Given the description of an element on the screen output the (x, y) to click on. 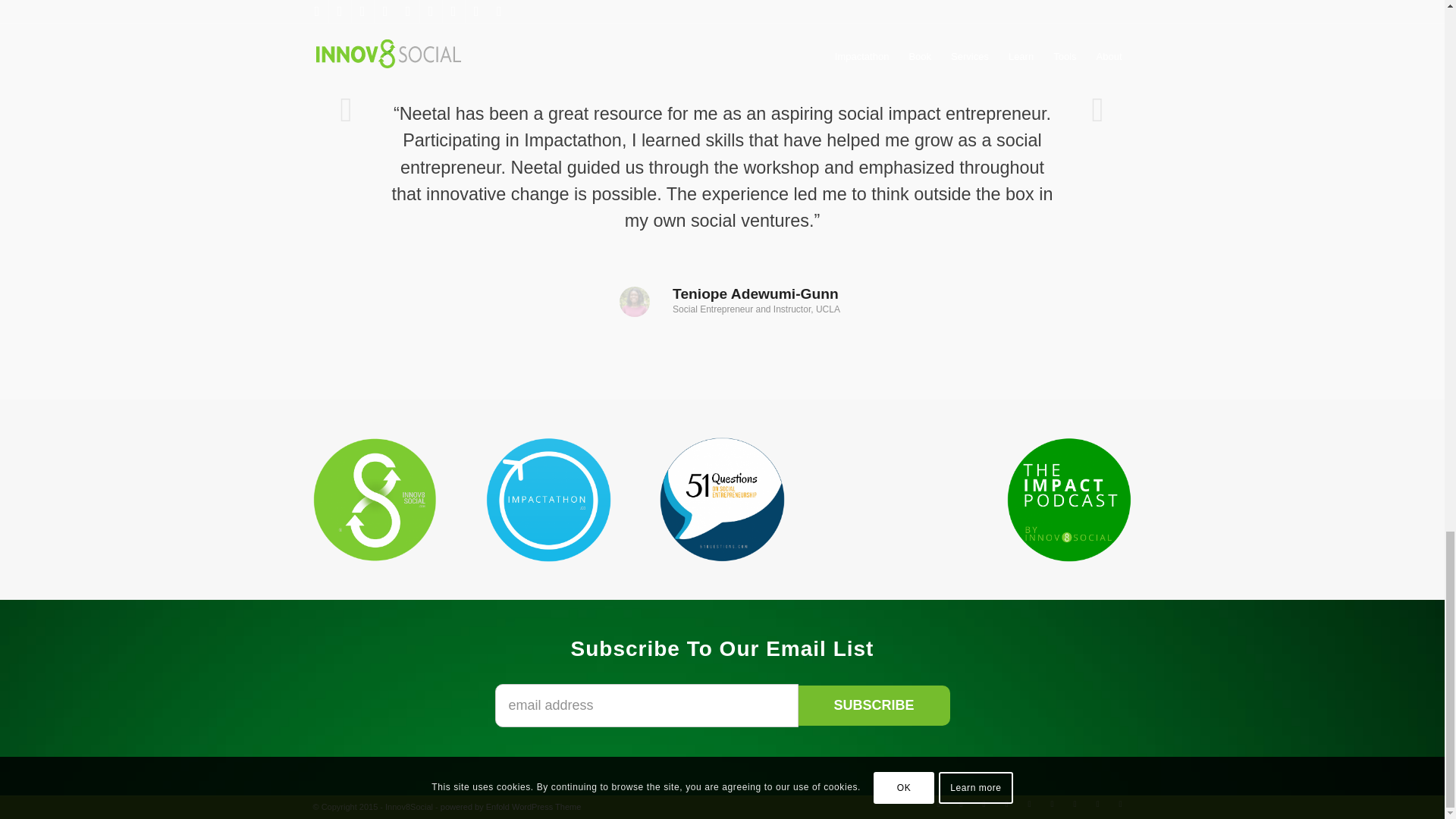
Next (1098, 108)
Subscribe (873, 705)
Previous (346, 108)
